Given the description of an element on the screen output the (x, y) to click on. 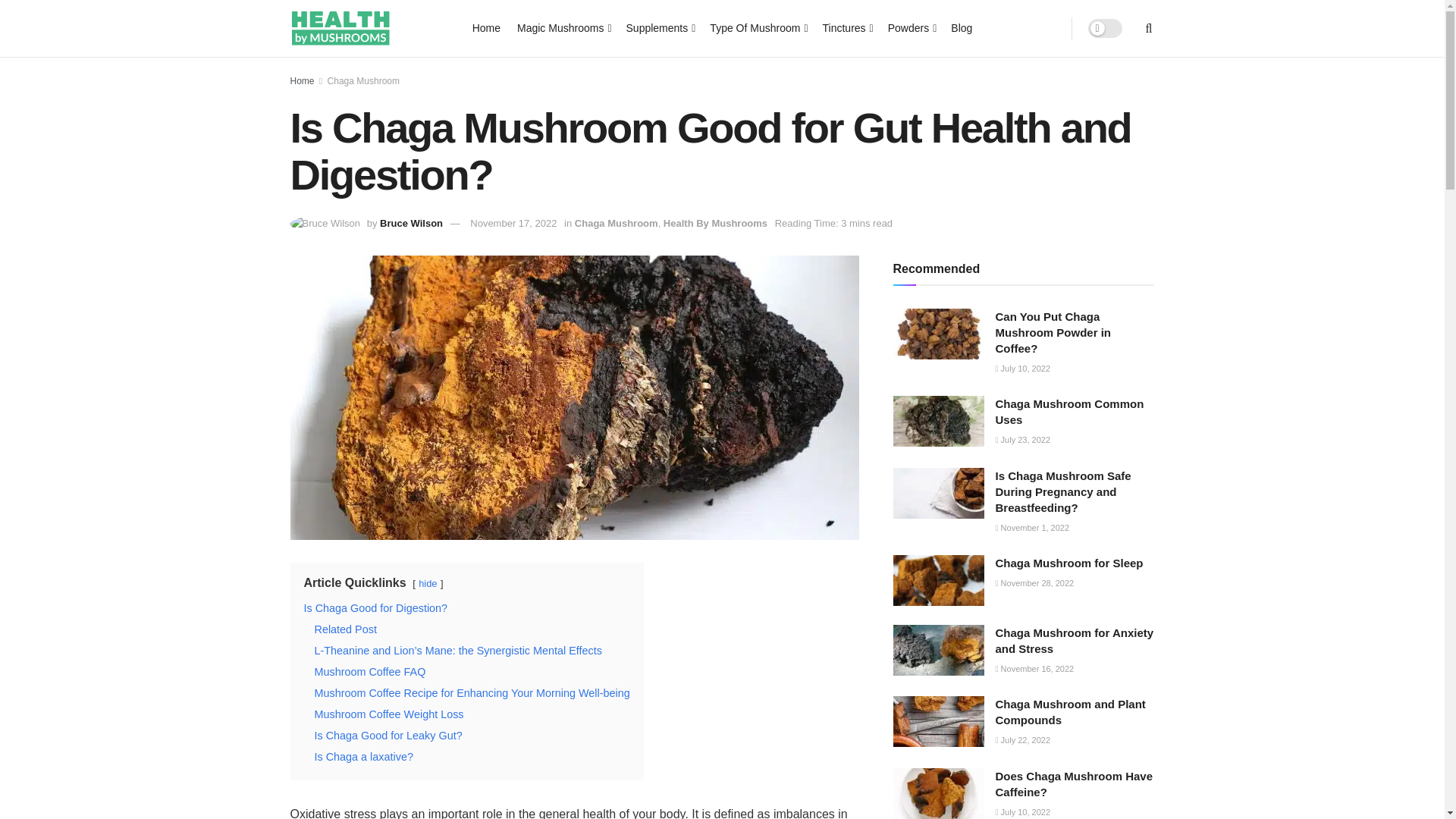
Type Of Mushroom (757, 27)
Magic Mushrooms (563, 27)
Home (485, 27)
Supplements (660, 27)
